Given the description of an element on the screen output the (x, y) to click on. 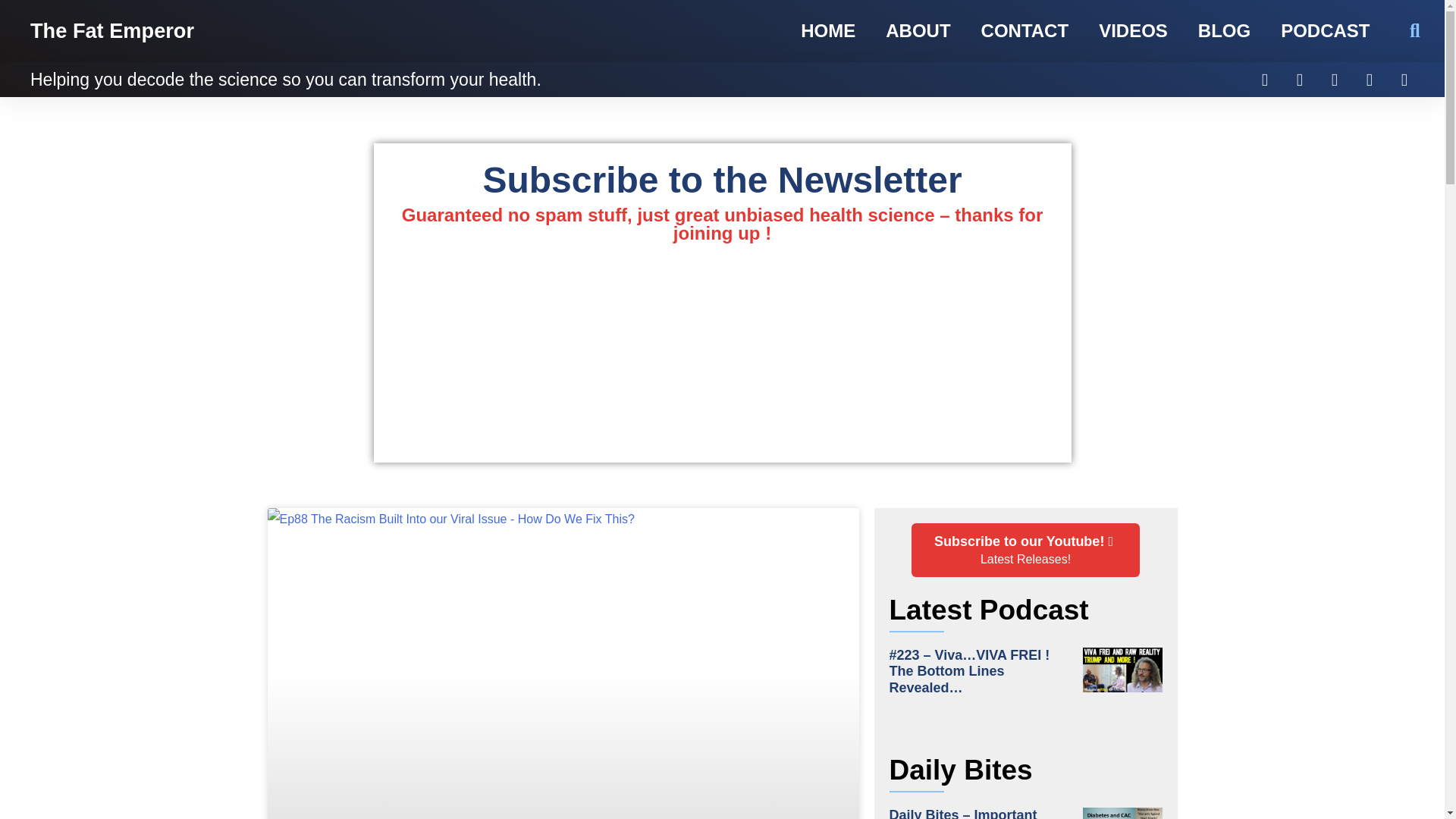
ABOUT (917, 31)
Instagram (1334, 79)
Youtube (1369, 79)
PODCAST (1324, 31)
Facebook-f (1264, 79)
Twitter (1299, 79)
BLOG (1223, 31)
VIDEOS (1132, 31)
CONTACT (1025, 31)
HOME (828, 31)
Linkedin-in (1404, 79)
The Fat Emperor (111, 30)
